Given the description of an element on the screen output the (x, y) to click on. 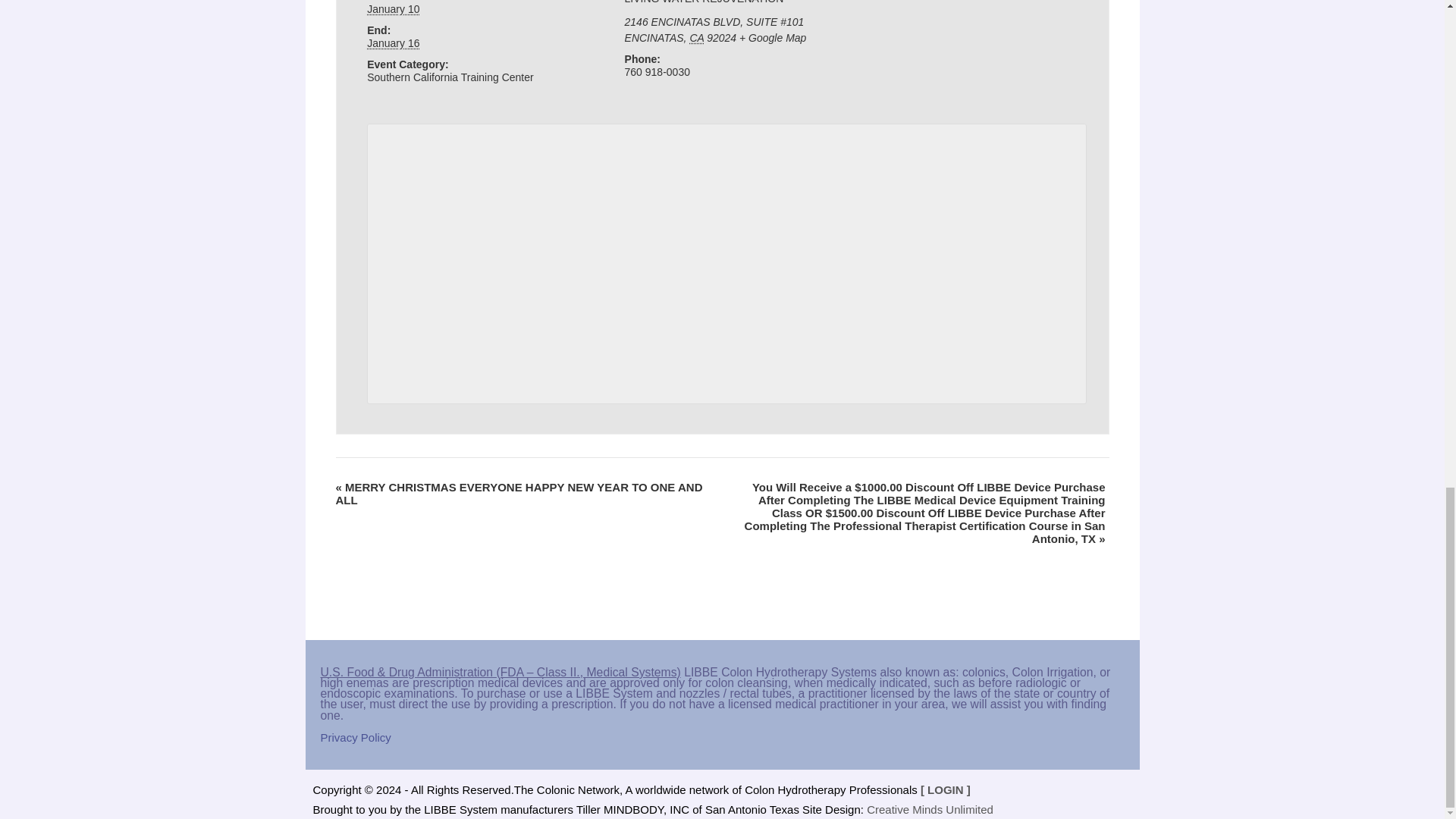
2024-01-10 (392, 9)
California (695, 37)
2024-01-16 (392, 42)
Click to view a Google Map (772, 37)
